Given the description of an element on the screen output the (x, y) to click on. 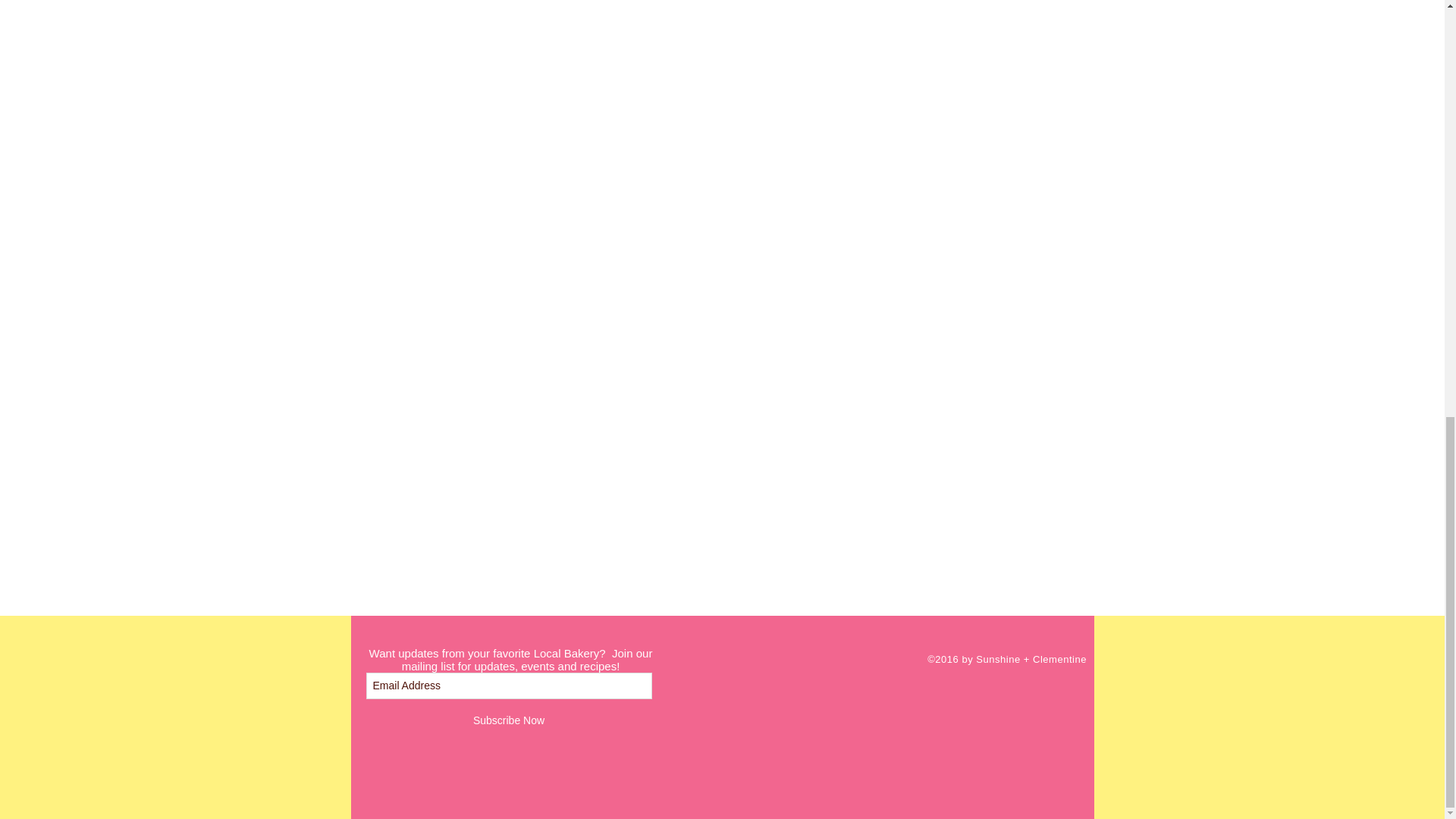
Subscribe Now (507, 720)
